Given the description of an element on the screen output the (x, y) to click on. 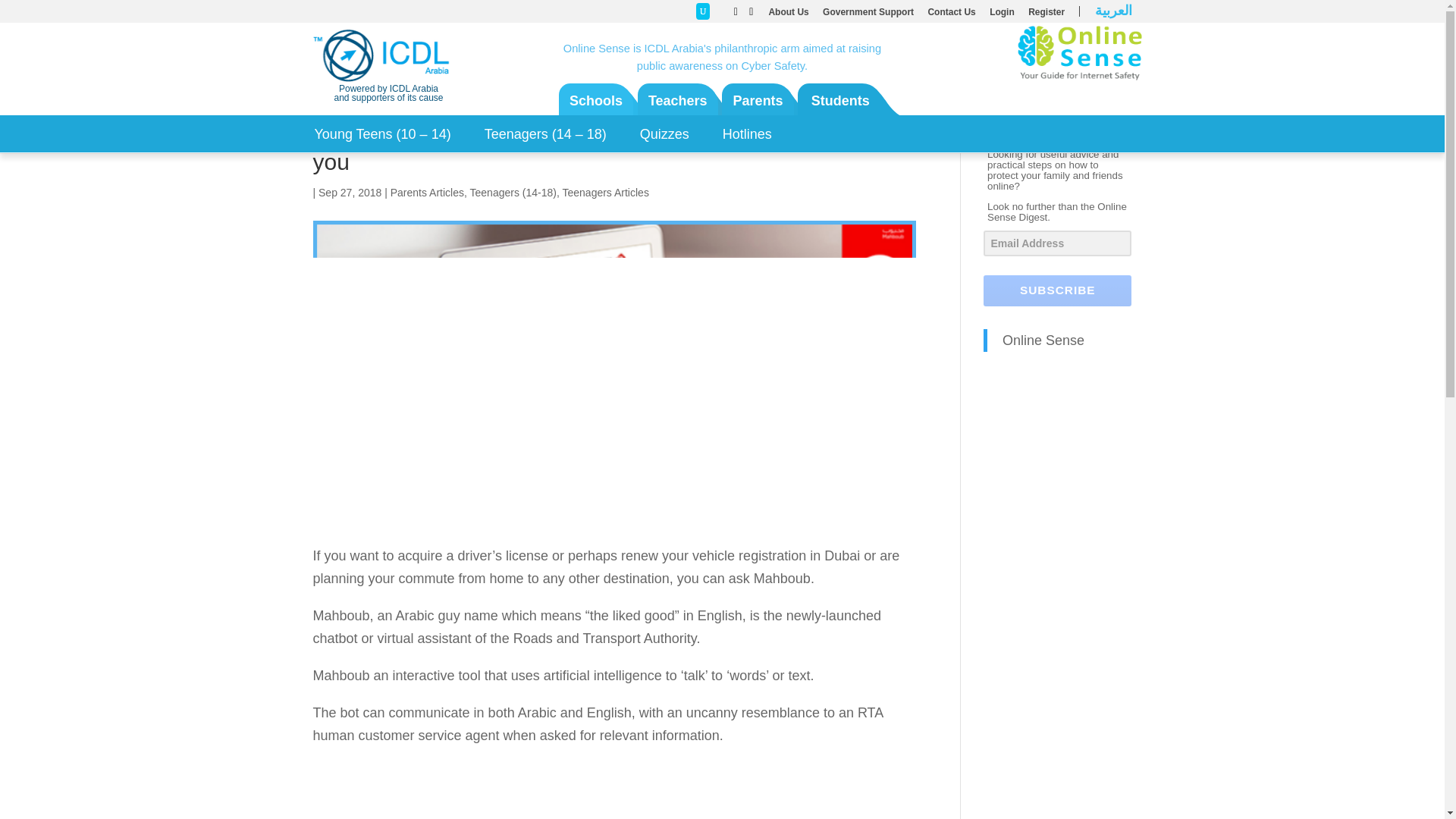
Contact Us (951, 15)
Quizzes (664, 133)
Online Sense (1043, 340)
Register (1045, 15)
About Us (788, 15)
Government Support (868, 15)
SUBSCRIBE (1057, 290)
Parents Articles (427, 192)
Students (839, 100)
Login (1002, 15)
